Given the description of an element on the screen output the (x, y) to click on. 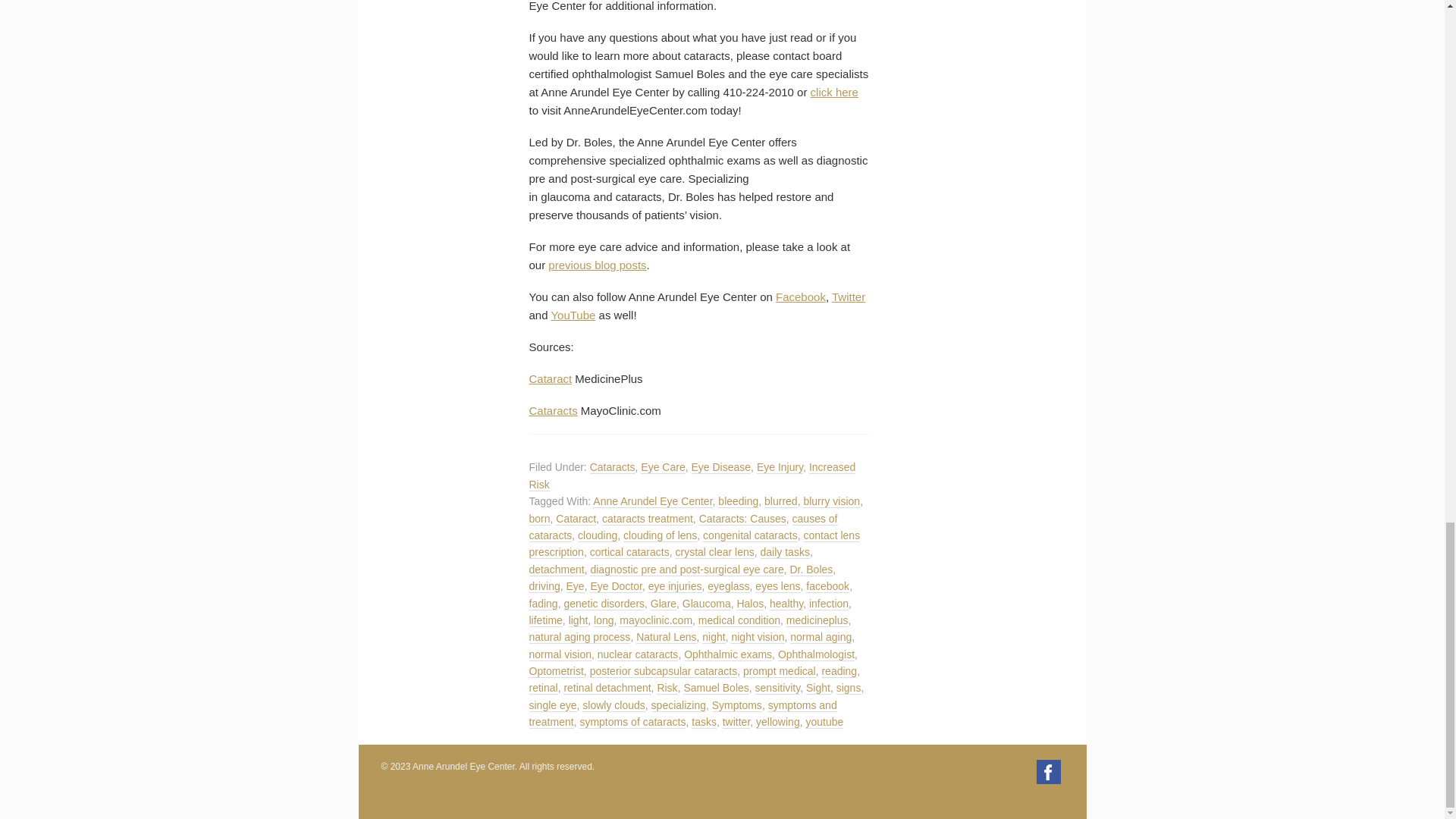
causes of cataracts (683, 527)
Eye Disease (721, 467)
Eye Care (662, 467)
Cataract (575, 518)
Cataracts (553, 410)
cataracts treatment (647, 518)
Increased Risk (692, 475)
Cataracts: Causes (742, 518)
previous blog posts (597, 264)
clouding (597, 535)
Cataracts (611, 467)
Facebook (800, 296)
Anne Arundel Eye Center (651, 501)
blurred (780, 501)
Cataract (550, 378)
